Given the description of an element on the screen output the (x, y) to click on. 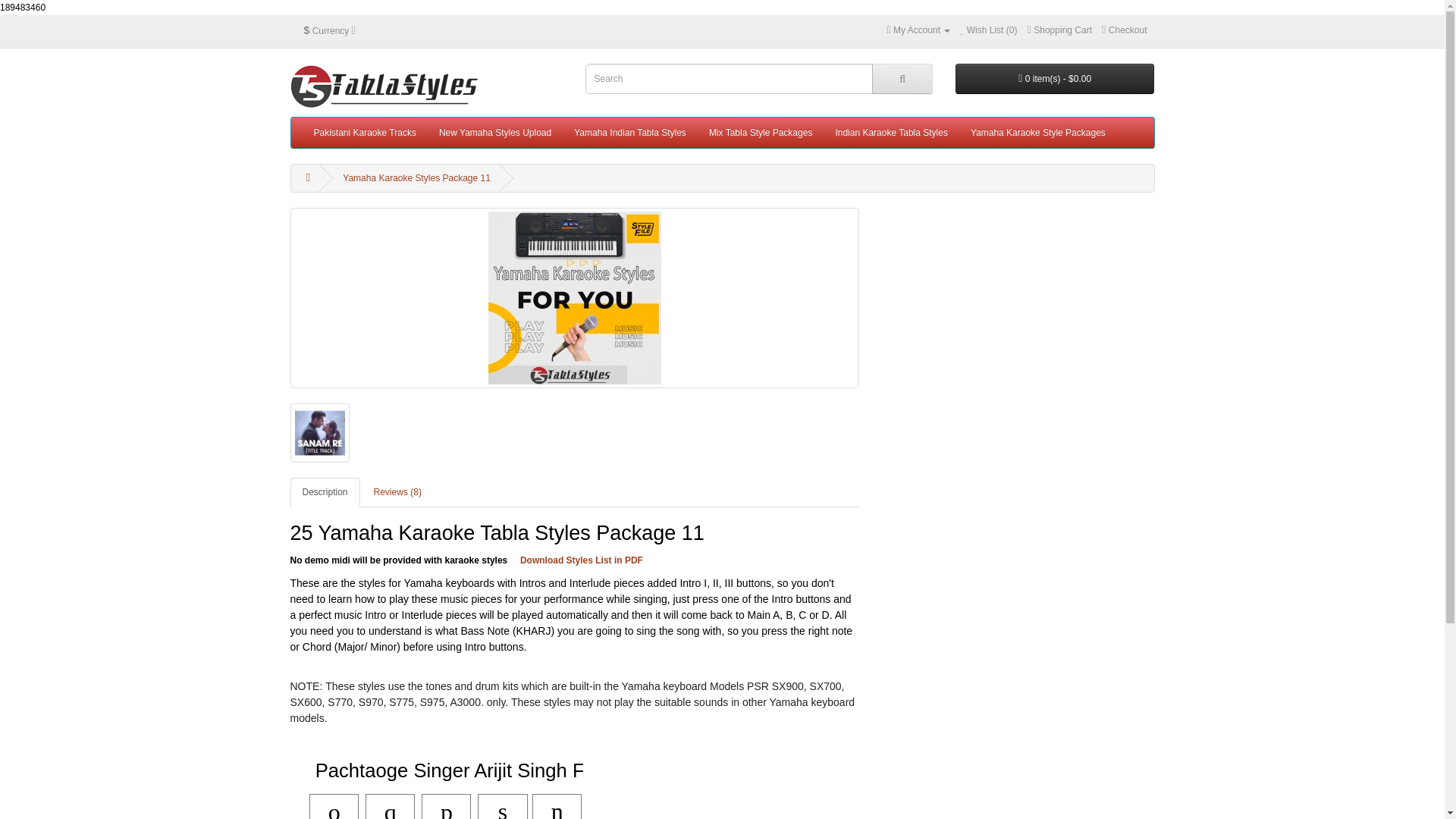
Yamaha Karaoke Styles Package 11 (416, 177)
Yamaha Karaoke Styles Package 11 (574, 298)
Shopping Cart (1059, 30)
Description (324, 491)
Pakistani Karaoke Tracks (363, 132)
Yamaha Karaoke Style Packages (1037, 132)
New Yamaha Styles Upload (495, 132)
My Account (918, 30)
Mix Tabla Style Packages (760, 132)
Yamaha Indian Tabla Styles (629, 132)
